Given the description of an element on the screen output the (x, y) to click on. 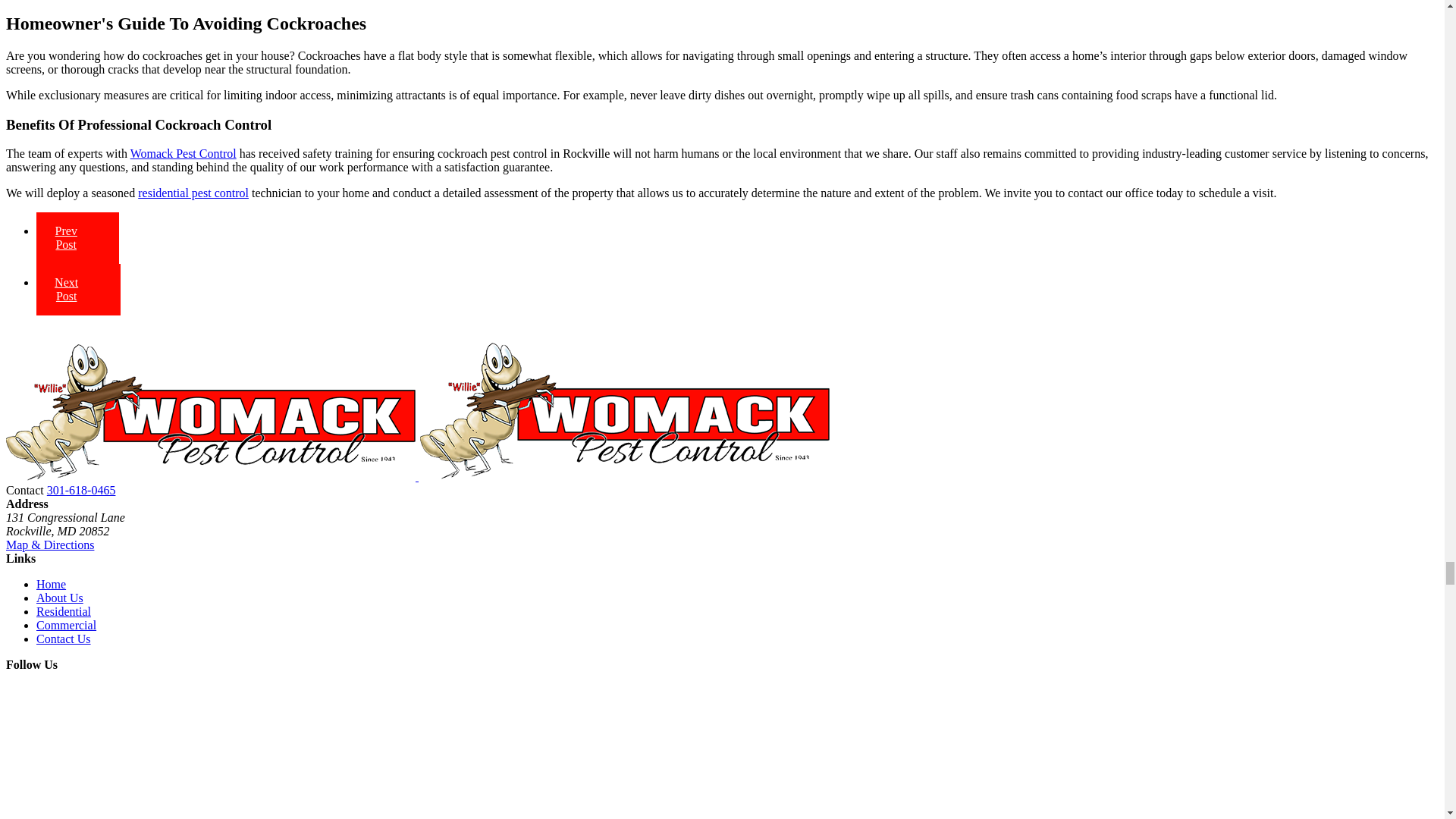
Womack Pest Control (209, 411)
Womack Pest Control (625, 410)
Home (418, 476)
